Given the description of an element on the screen output the (x, y) to click on. 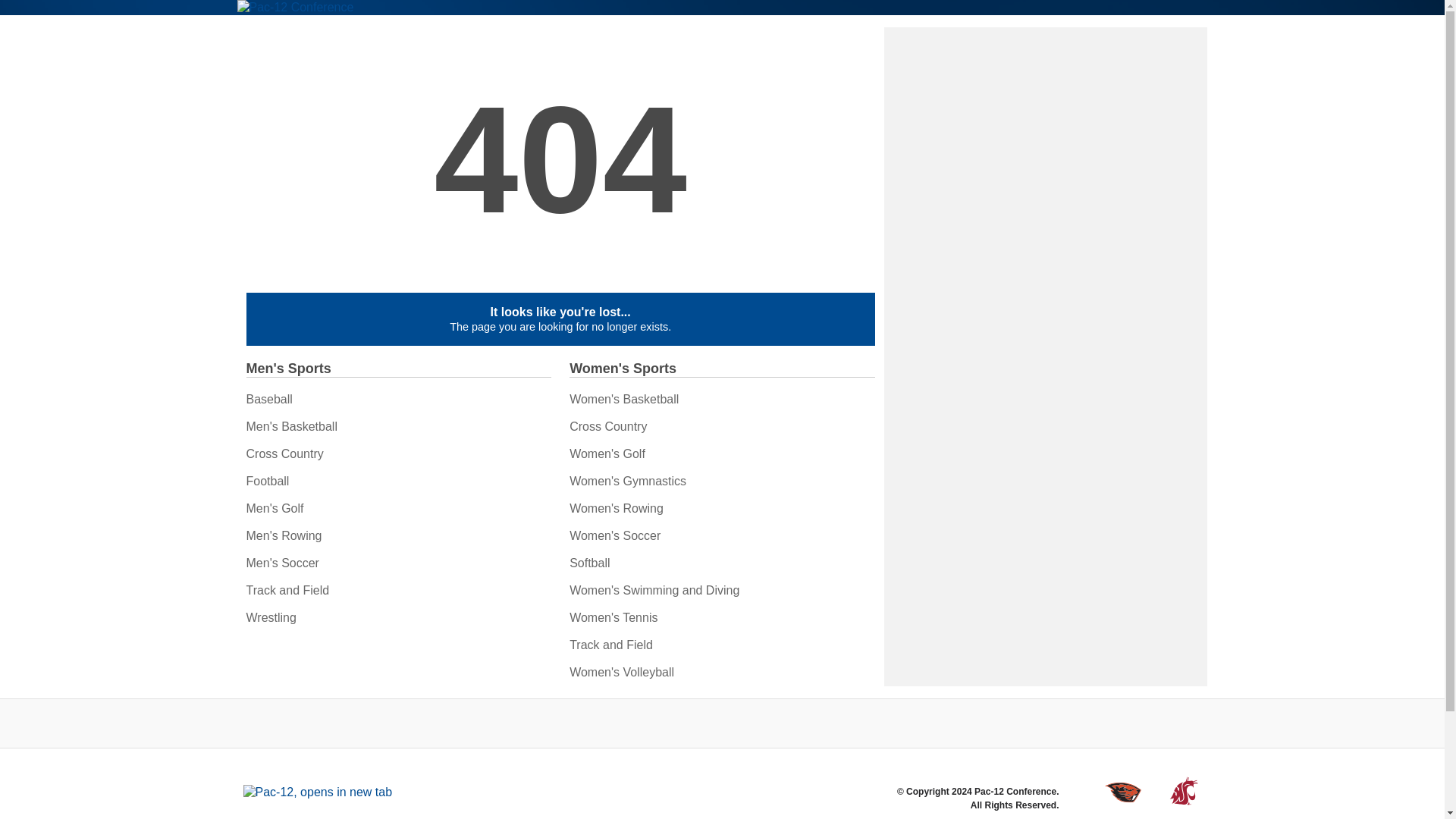
Cross Country (284, 453)
Men's Rowing (283, 535)
Men's Basketball (291, 426)
Track and Field (287, 590)
Baseball (269, 399)
Men's Golf (274, 508)
Football (267, 481)
Men's Soccer (282, 562)
